Given the description of an element on the screen output the (x, y) to click on. 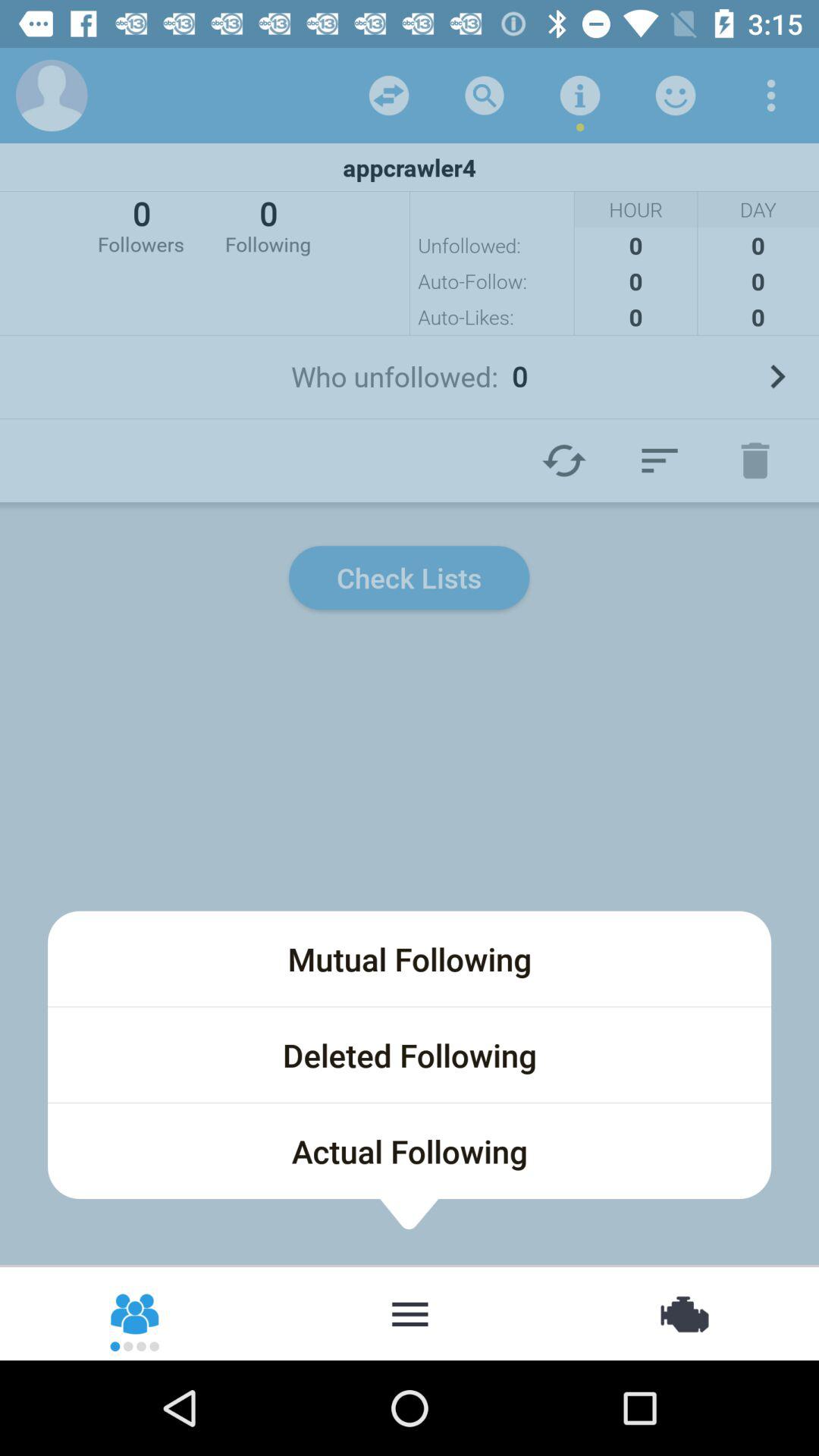
swipe to actual following icon (409, 1150)
